Given the description of an element on the screen output the (x, y) to click on. 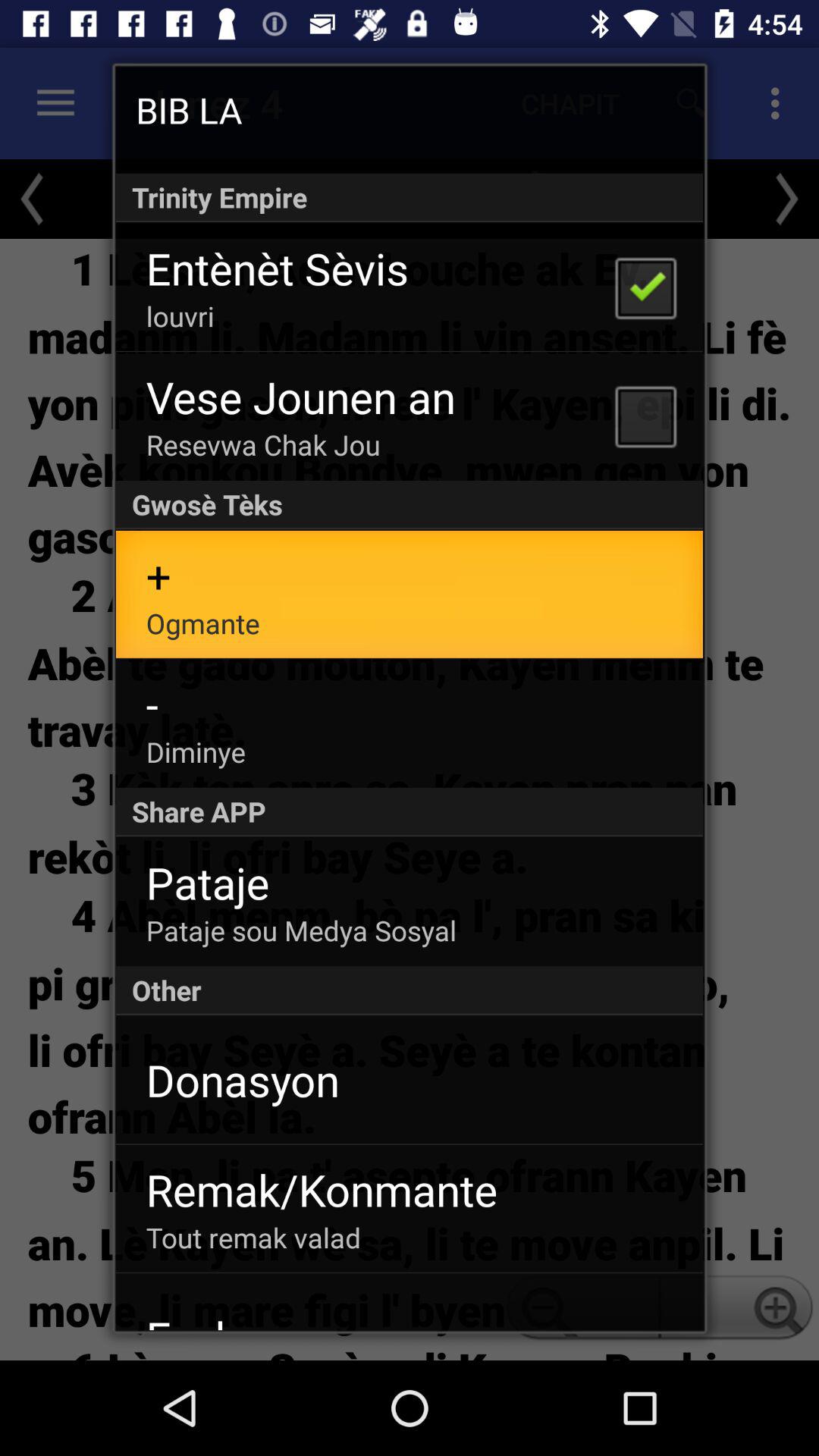
choose share app app (409, 811)
